Given the description of an element on the screen output the (x, y) to click on. 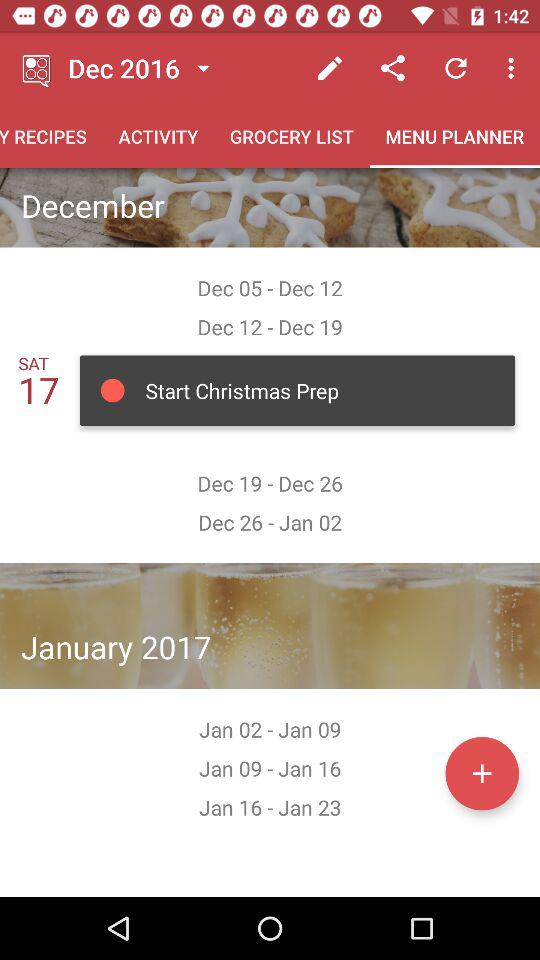
click to add to calendar (482, 773)
